Given the description of an element on the screen output the (x, y) to click on. 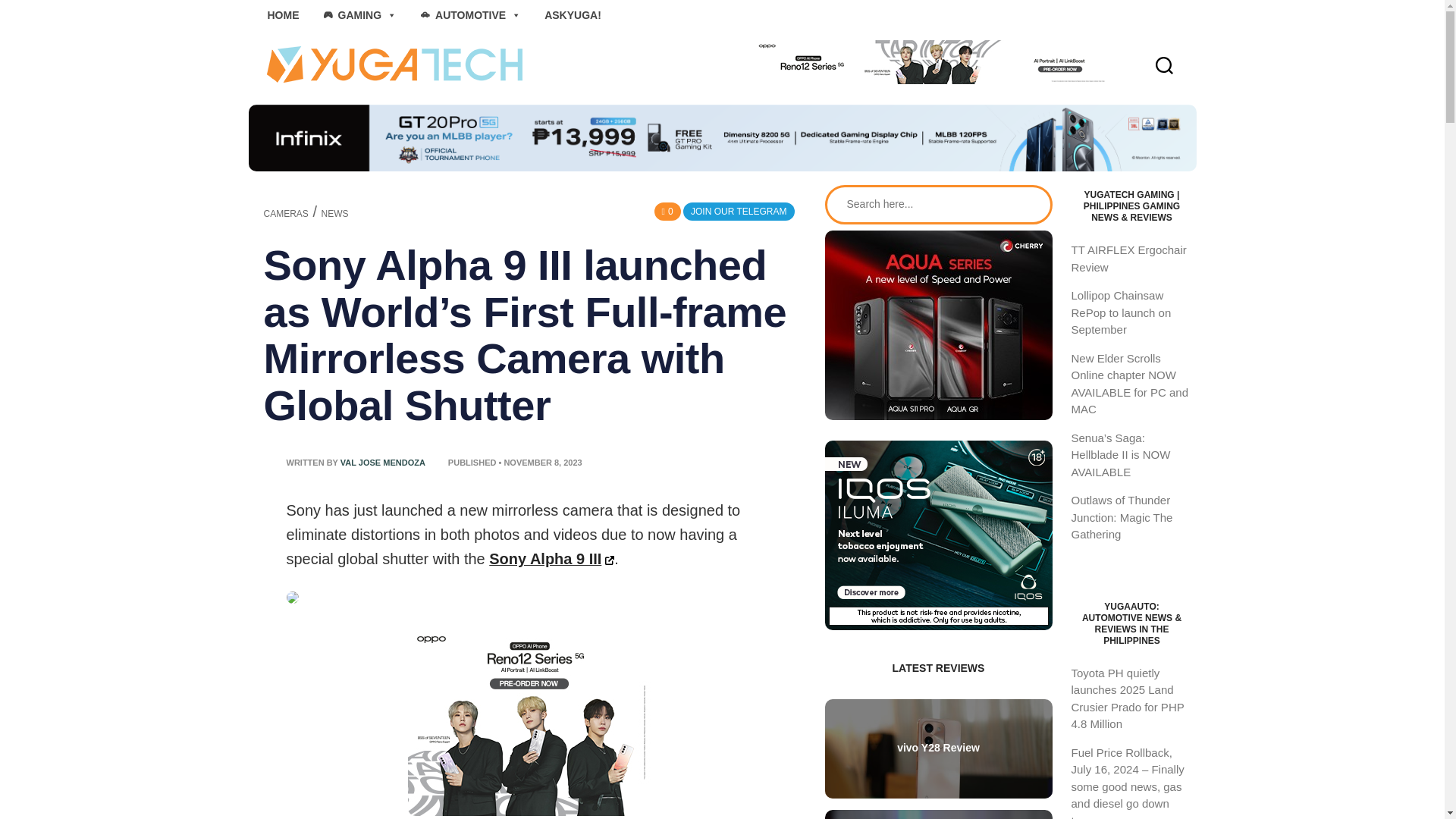
VAL JOSE MENDOZA (382, 461)
CAMERAS (285, 213)
Posts by Val Jose Mendoza (382, 461)
vivo Y28 Review (938, 748)
JOIN OUR TELEGRAM (737, 211)
Sony Alpha 9 III (551, 558)
ASKYUGA! (572, 15)
NEWS (335, 213)
GAMING (359, 15)
HOME (282, 15)
0 (667, 211)
AUTOMOTIVE (470, 15)
